Given the description of an element on the screen output the (x, y) to click on. 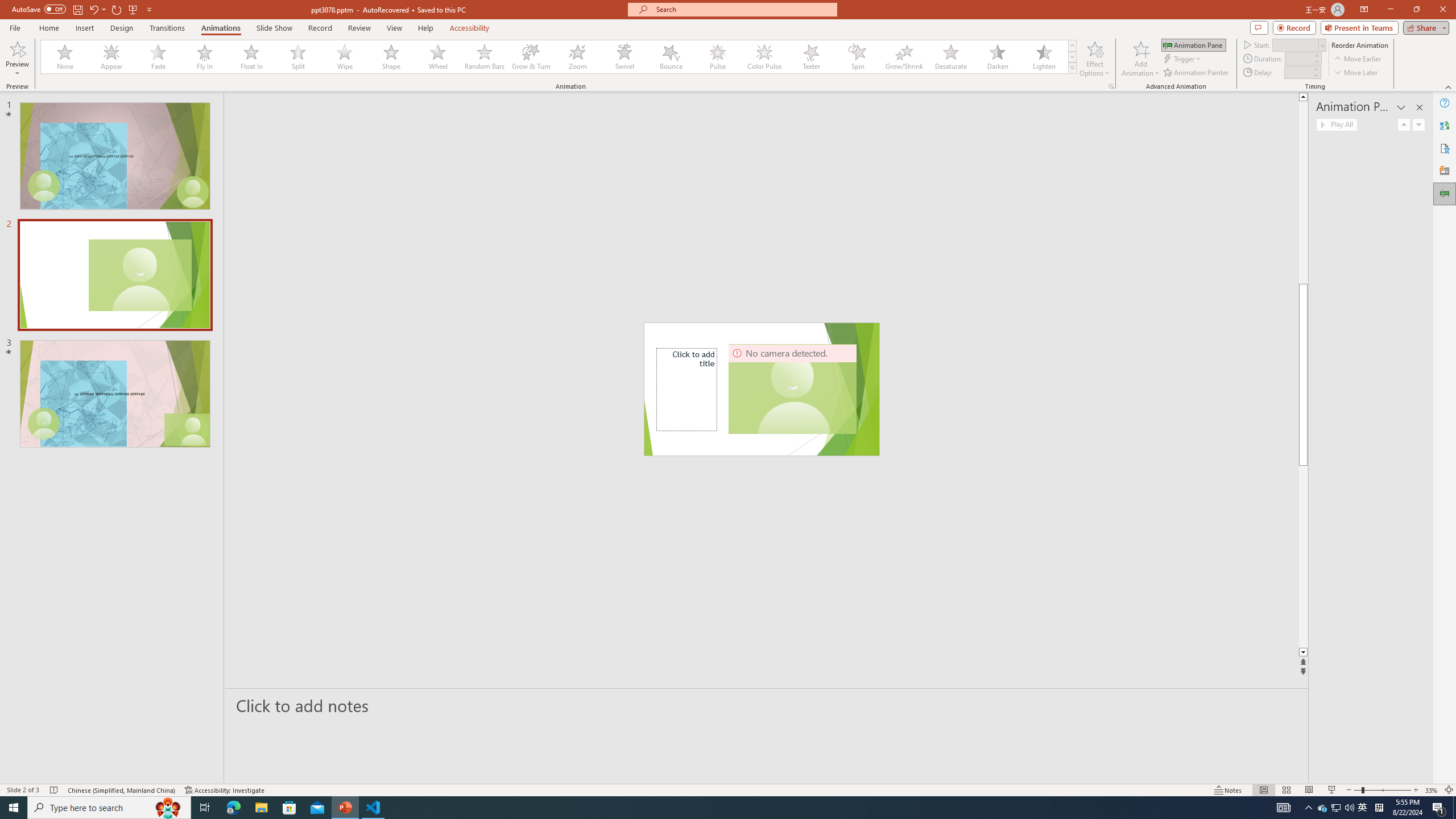
Darken (997, 56)
Lighten (1043, 56)
Animation Duration (1298, 58)
Trigger (1182, 58)
Swivel (624, 56)
AutomationID: AnimationGallery (558, 56)
Color Pulse (764, 56)
